Given the description of an element on the screen output the (x, y) to click on. 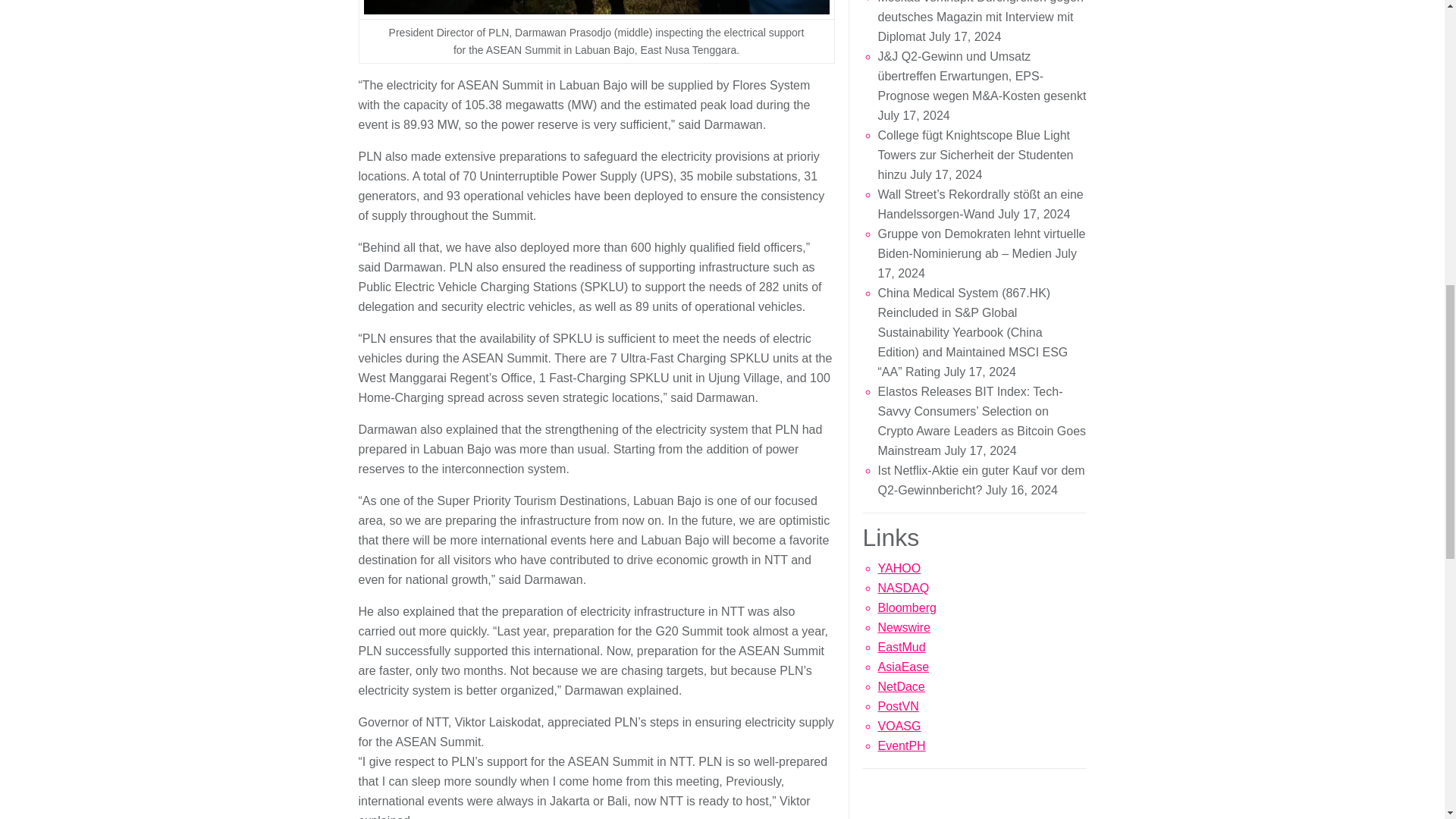
Ist Netflix-Aktie ein guter Kauf vor dem Q2-Gewinnbericht? (980, 480)
